Given the description of an element on the screen output the (x, y) to click on. 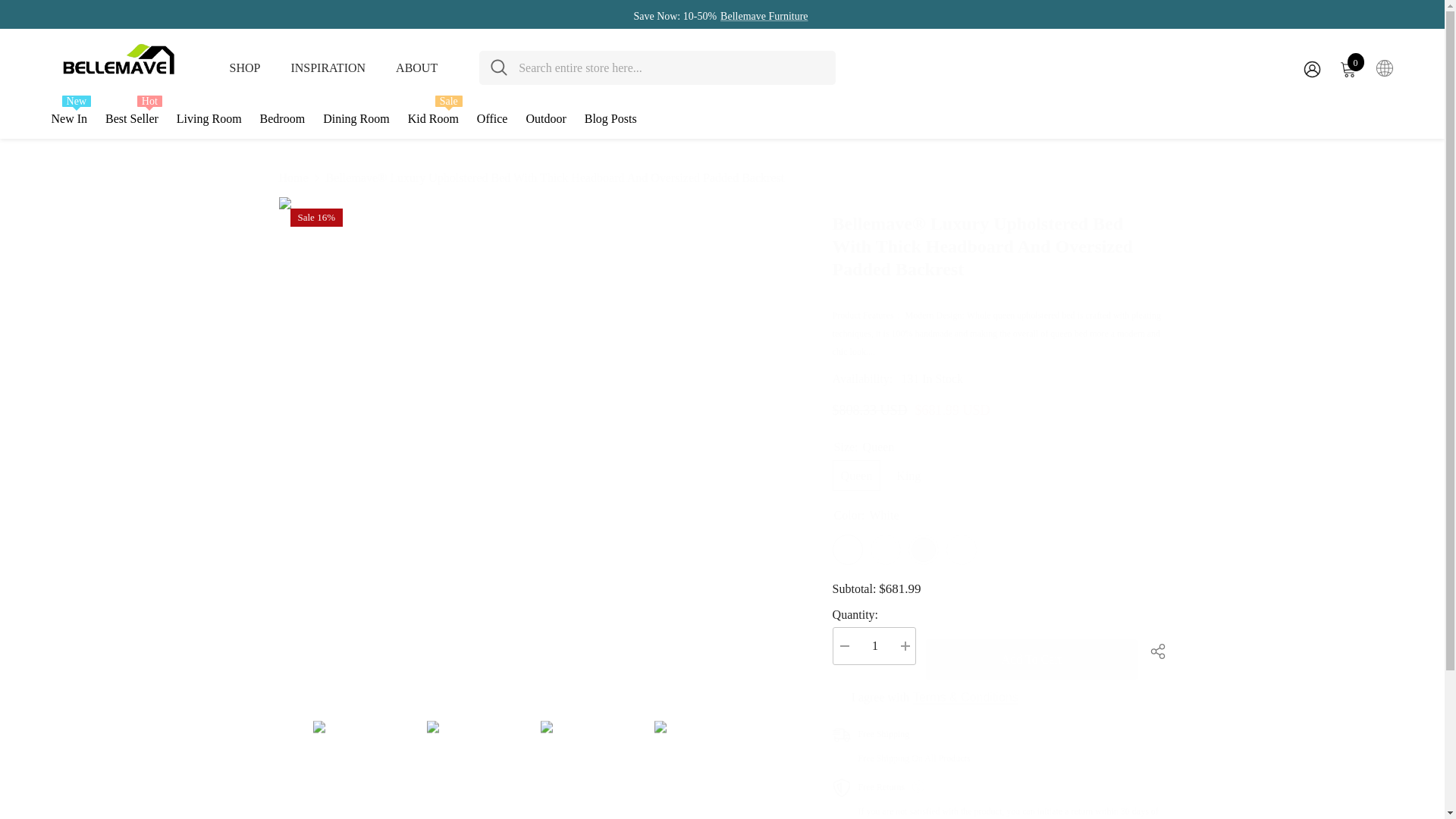
ABOUT (999, 508)
SHOP (999, 751)
Availability: 131 In Stock (417, 66)
INSPIRATION (244, 66)
Bellemave Furniture (999, 386)
Add To Cart (327, 66)
About Us (764, 16)
1 (1033, 659)
